Given the description of an element on the screen output the (x, y) to click on. 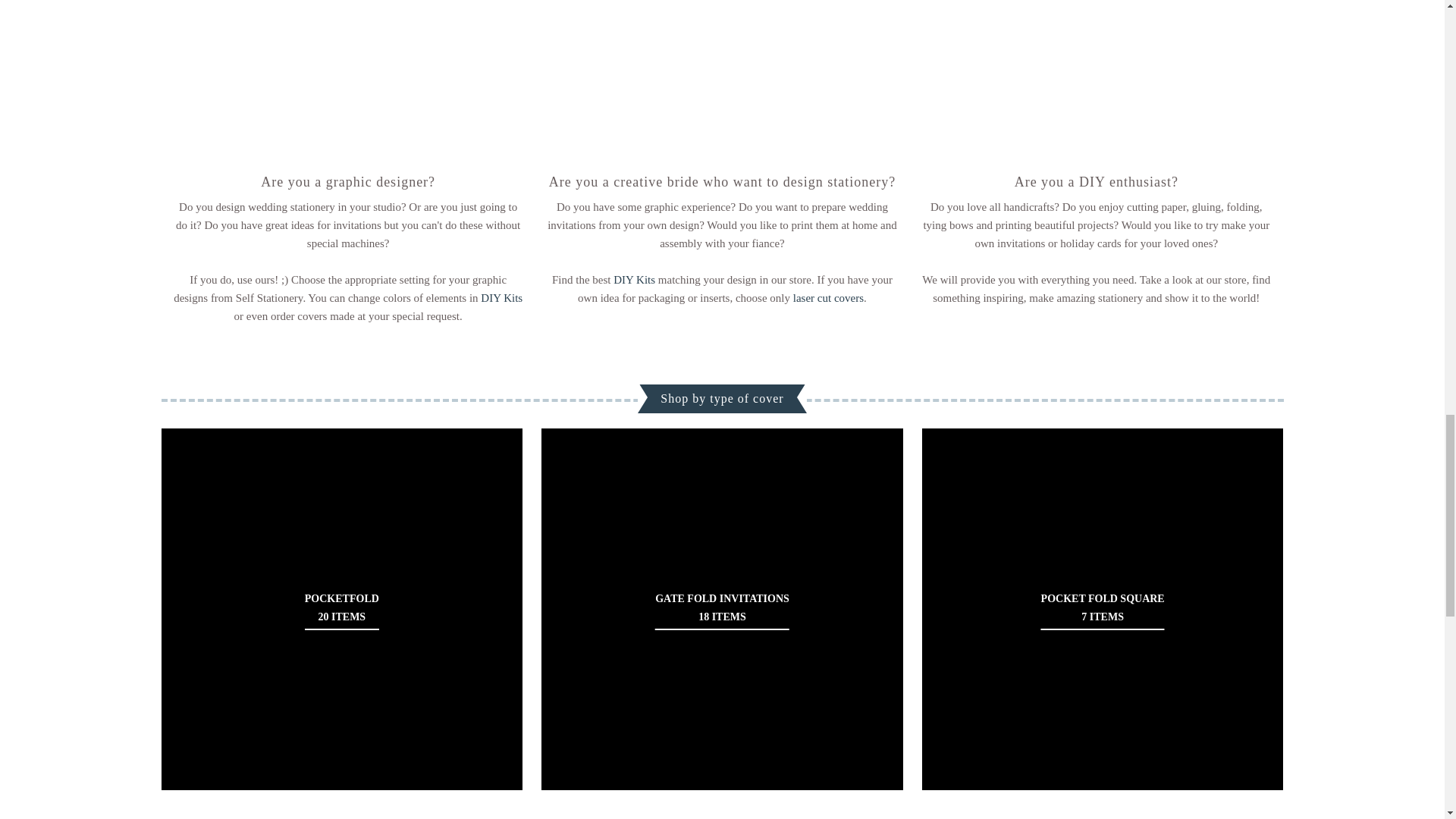
Pocketfold (341, 609)
DIY Kits (501, 297)
Pocket Fold Square (1102, 607)
DIY Kits (633, 279)
laser cut covers (828, 297)
Pocketfold (341, 607)
Pocket Fold Square (1102, 609)
Gate Fold Invitations (722, 607)
Gate Fold Invitations (721, 609)
